Given the description of an element on the screen output the (x, y) to click on. 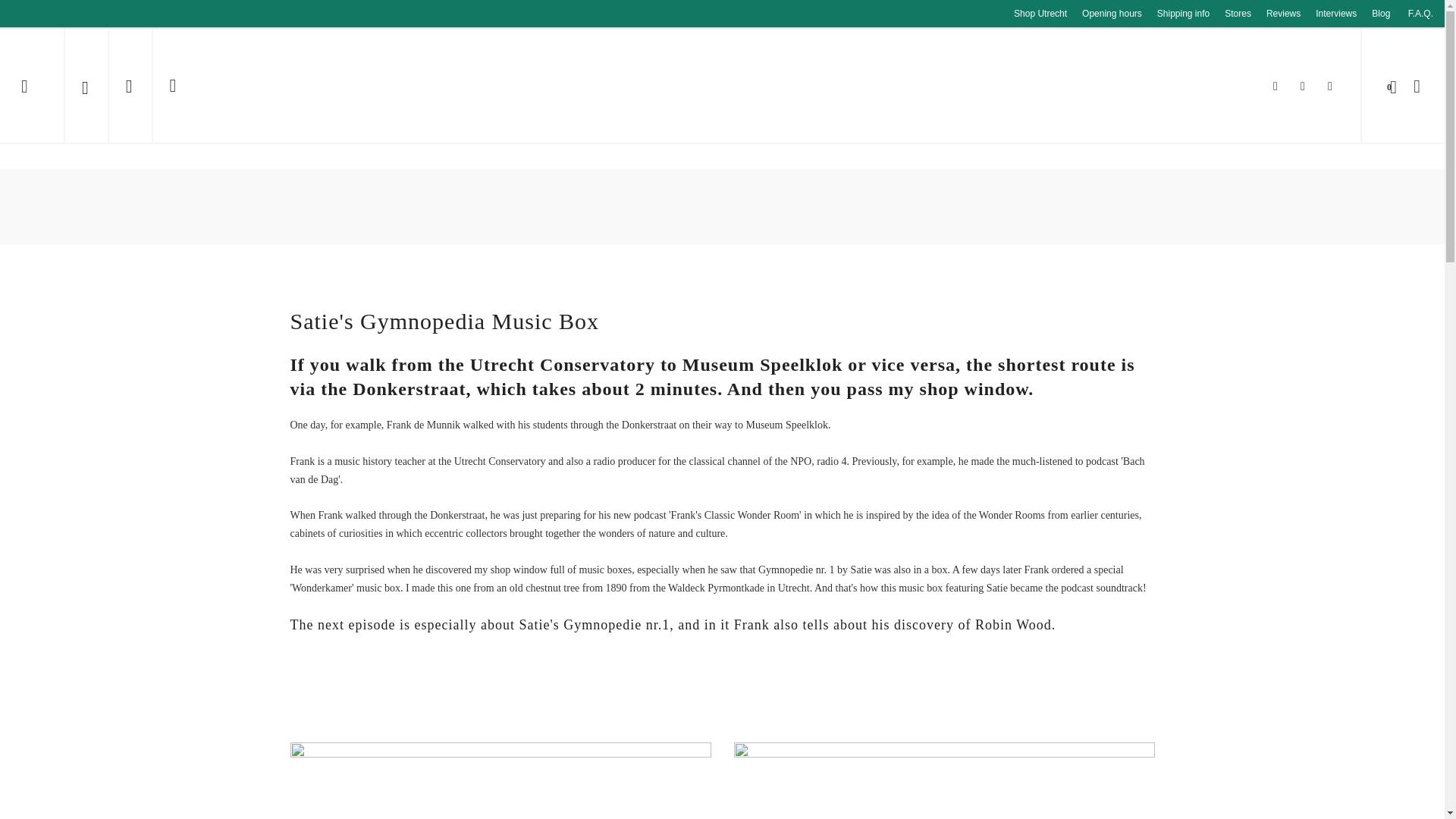
 F.A.Q. (1419, 13)
Blog (1380, 13)
Shop Utrecht (1040, 13)
Stores (1238, 13)
Opening hours (1112, 13)
Shipping info (1183, 13)
Interviews (1335, 13)
Reviews (1283, 13)
